Given the description of an element on the screen output the (x, y) to click on. 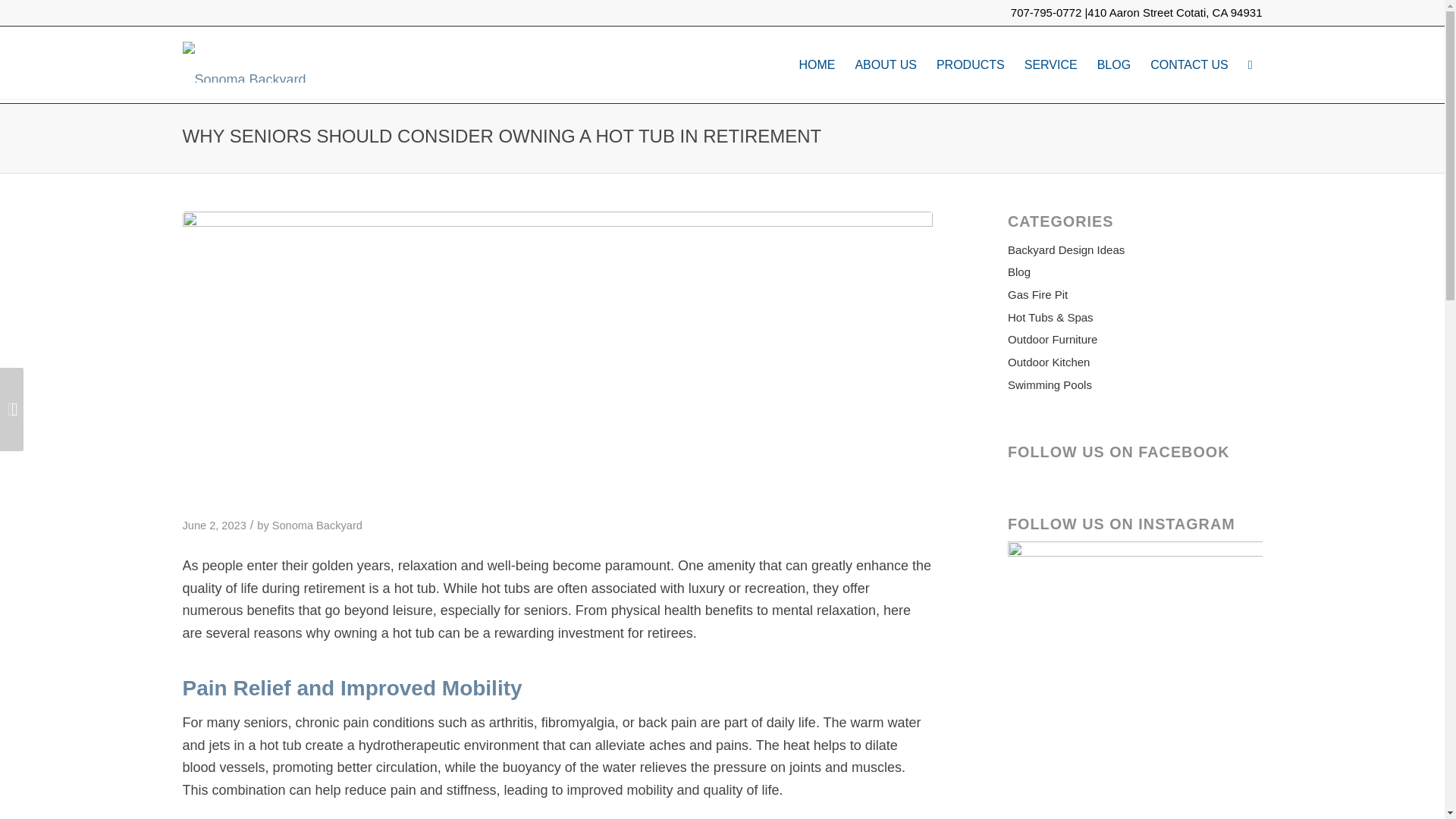
Posts by Sonoma Backyard (317, 525)
WHY SENIORS SHOULD CONSIDER OWNING A HOT TUB IN RETIREMENT (501, 136)
CONTACT US (1189, 64)
Sonoma Backyard (317, 525)
707-795-0772 (1045, 11)
SERVICE (1050, 64)
ABOUT US (885, 64)
PRODUCTS (970, 64)
